Given the description of an element on the screen output the (x, y) to click on. 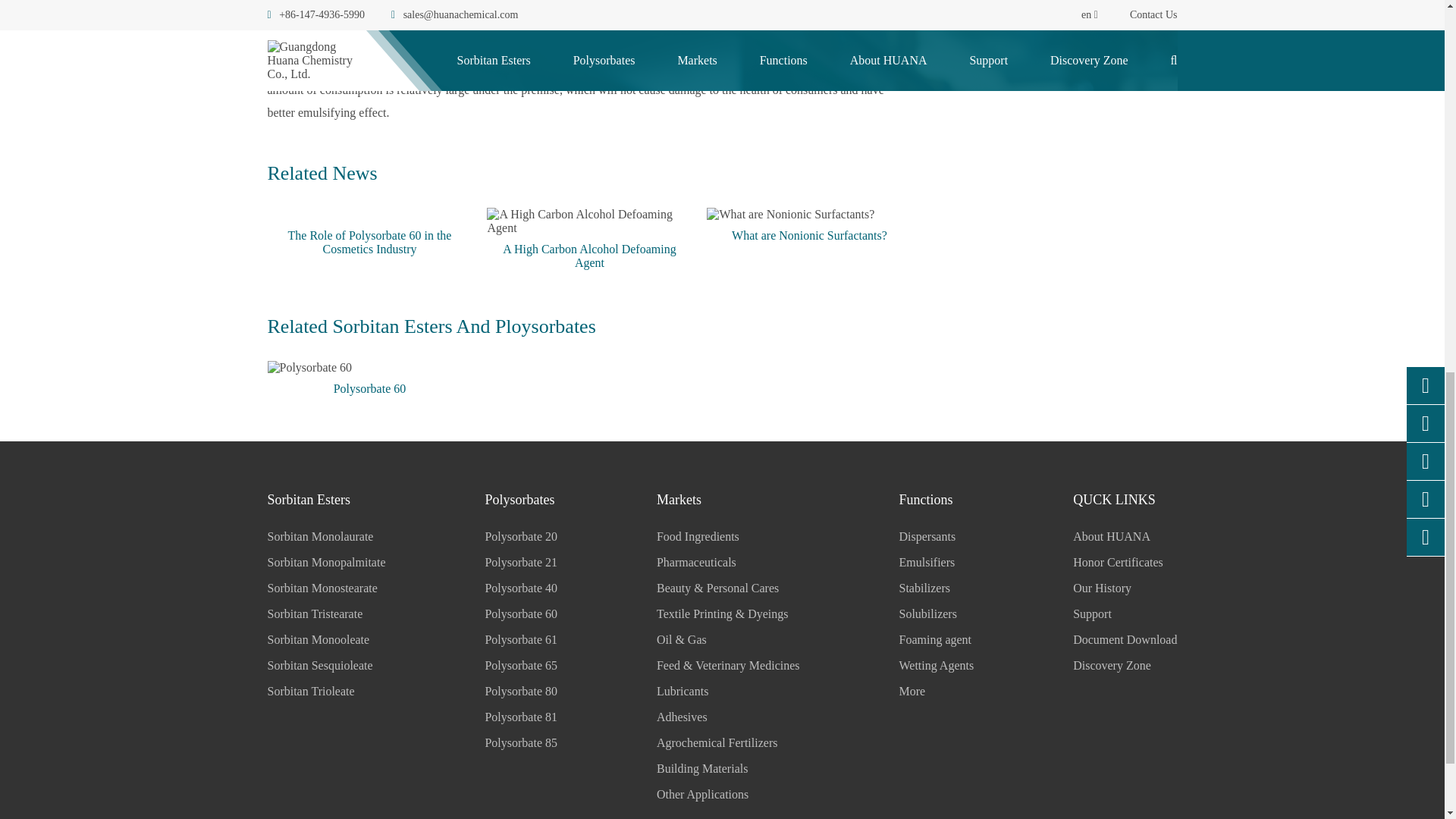
What are Nonionic Surfactants? (808, 214)
A High Carbon Alcohol Defoaming Agent (588, 221)
Polysorbate 60 (368, 367)
